Given the description of an element on the screen output the (x, y) to click on. 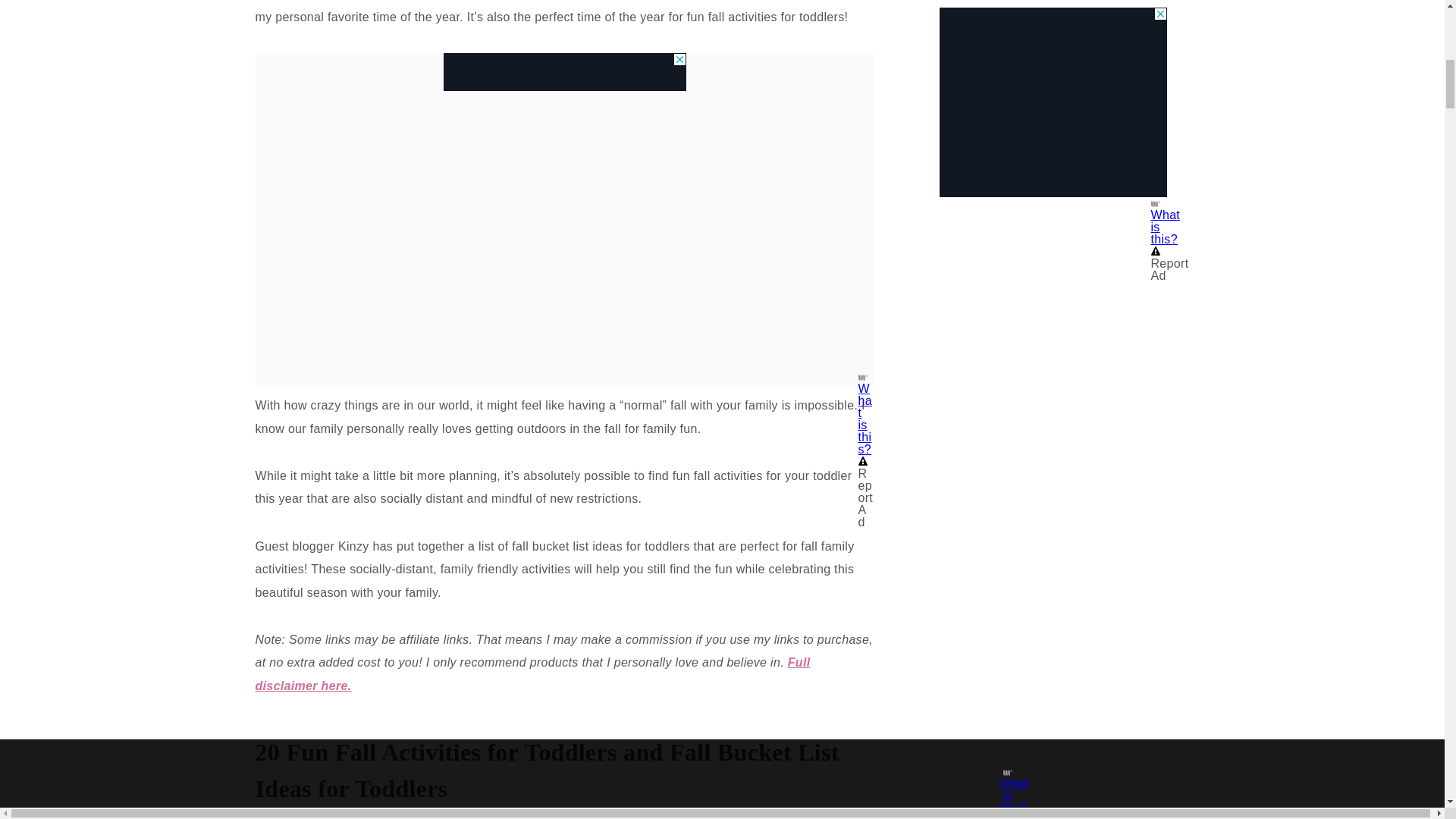
3rd party ad content (563, 71)
